Given the description of an element on the screen output the (x, y) to click on. 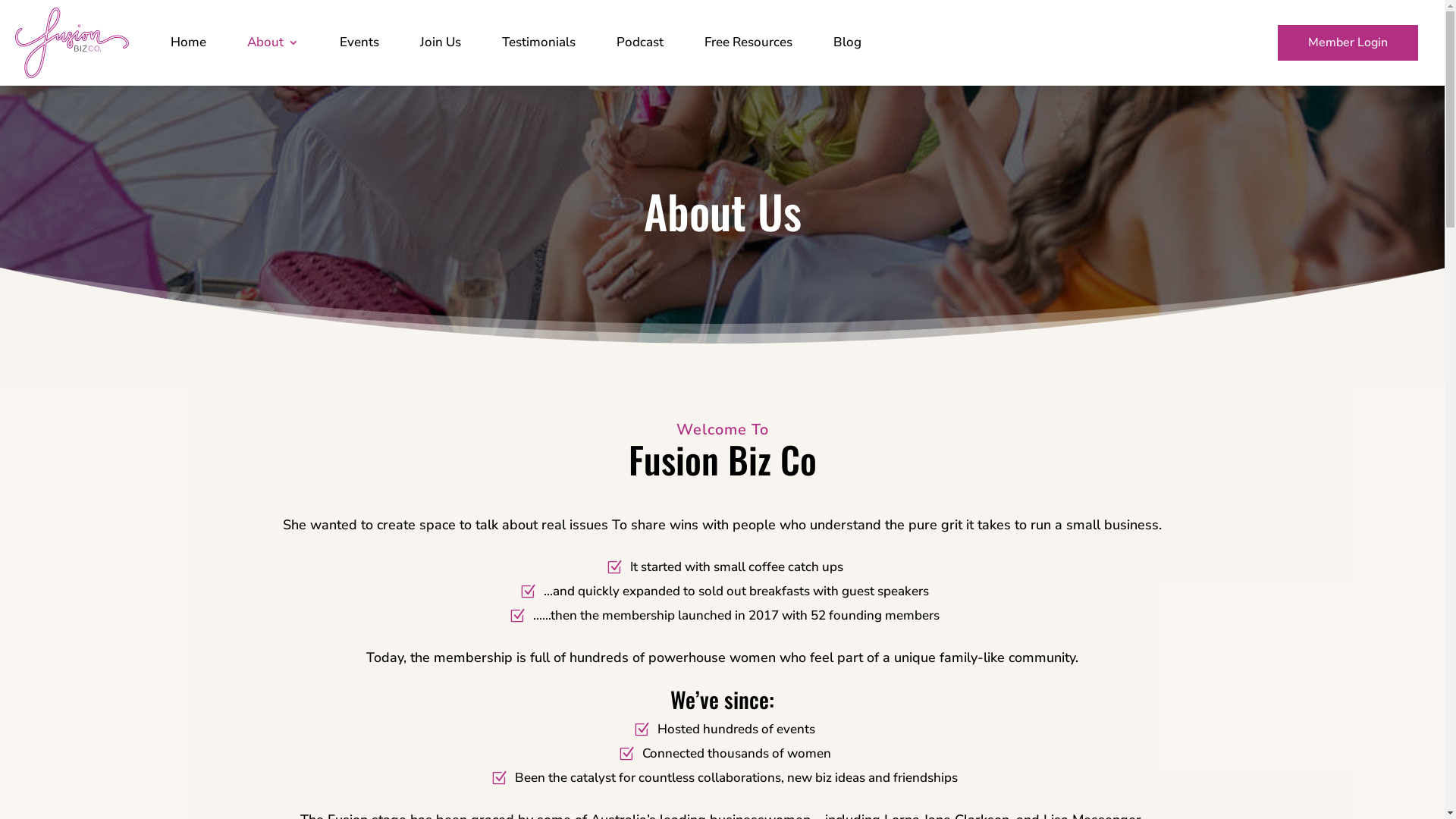
Free Resources Element type: text (748, 42)
Join Us Element type: text (440, 42)
About Element type: text (272, 42)
Home Element type: text (188, 42)
Member Login Element type: text (1347, 42)
Events Element type: text (359, 42)
Blog Element type: text (847, 42)
Podcast Element type: text (639, 42)
Testimonials Element type: text (538, 42)
